Given the description of an element on the screen output the (x, y) to click on. 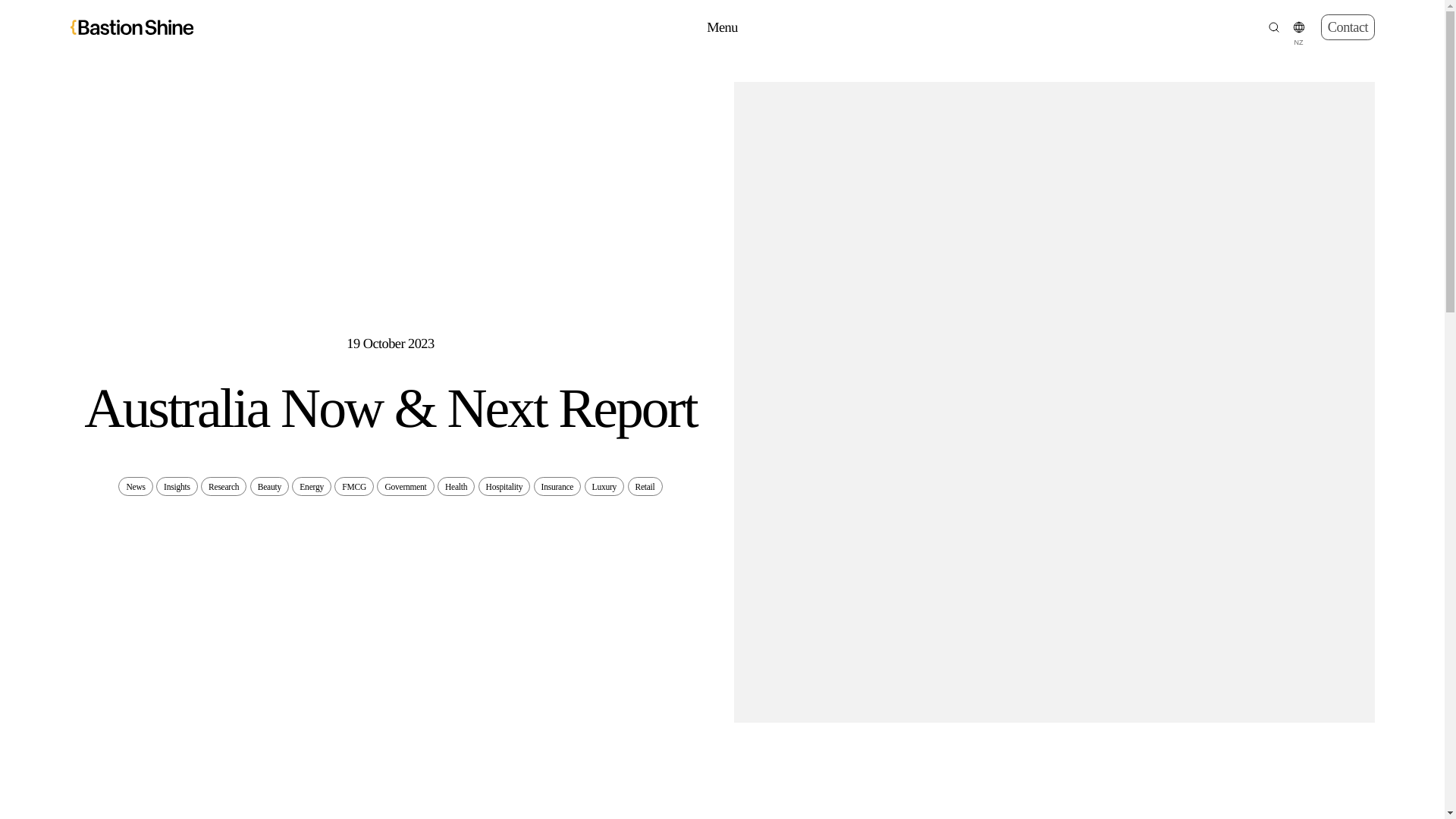
Insurance (557, 486)
Hospitality (505, 486)
Health (456, 486)
Contact (1347, 27)
Energy (311, 486)
Government (405, 486)
Insights (176, 486)
FMCG (354, 486)
Choose a region (1298, 27)
Beauty (269, 486)
News (134, 486)
NZ (1298, 27)
Retail (644, 486)
Luxury (604, 486)
Research (223, 486)
